Given the description of an element on the screen output the (x, y) to click on. 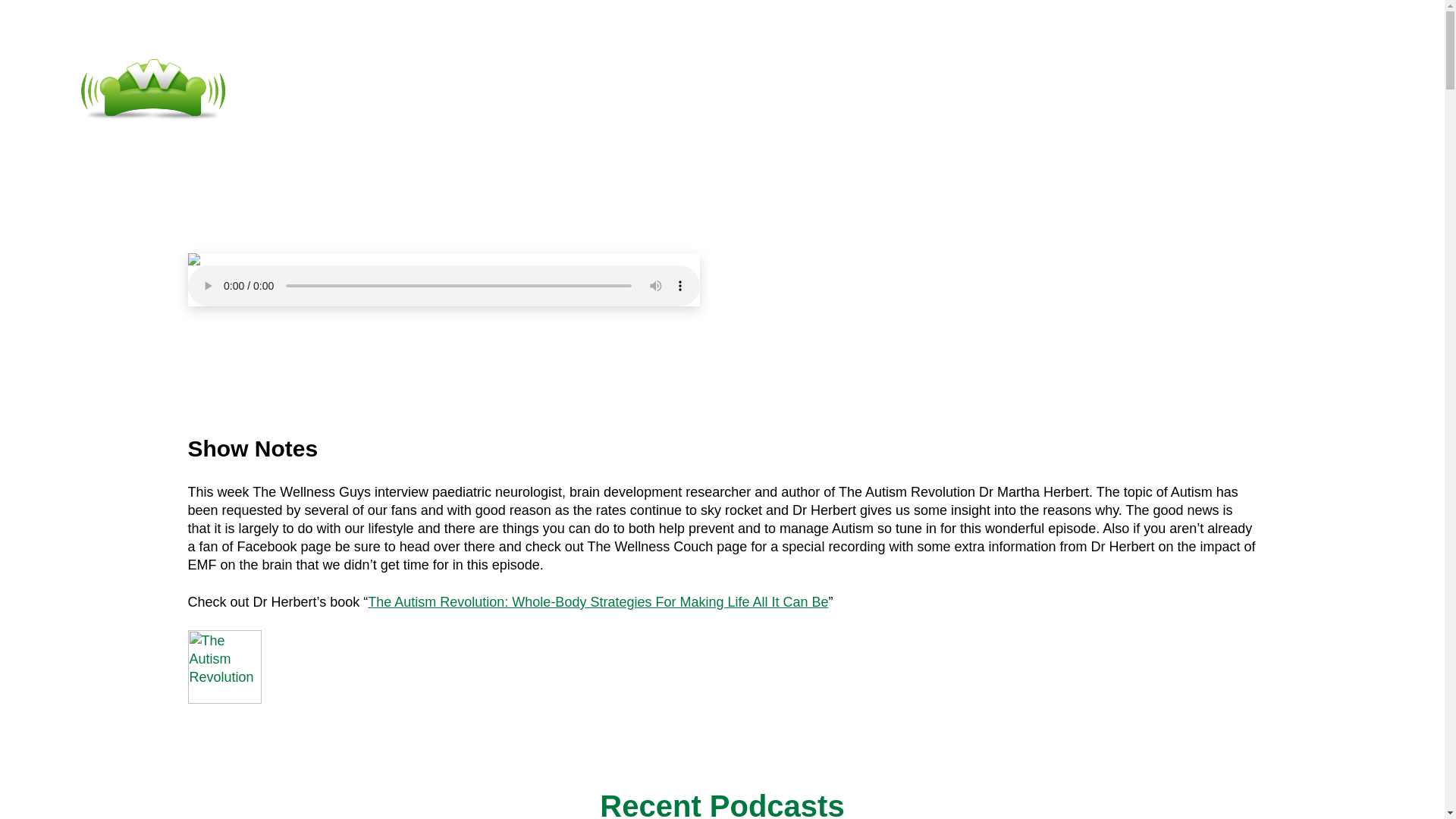
Contact Us (744, 89)
This Week In Wellness (852, 313)
Podcasts (623, 89)
The Autism Revolution (224, 698)
Login (851, 89)
